Given the description of an element on the screen output the (x, y) to click on. 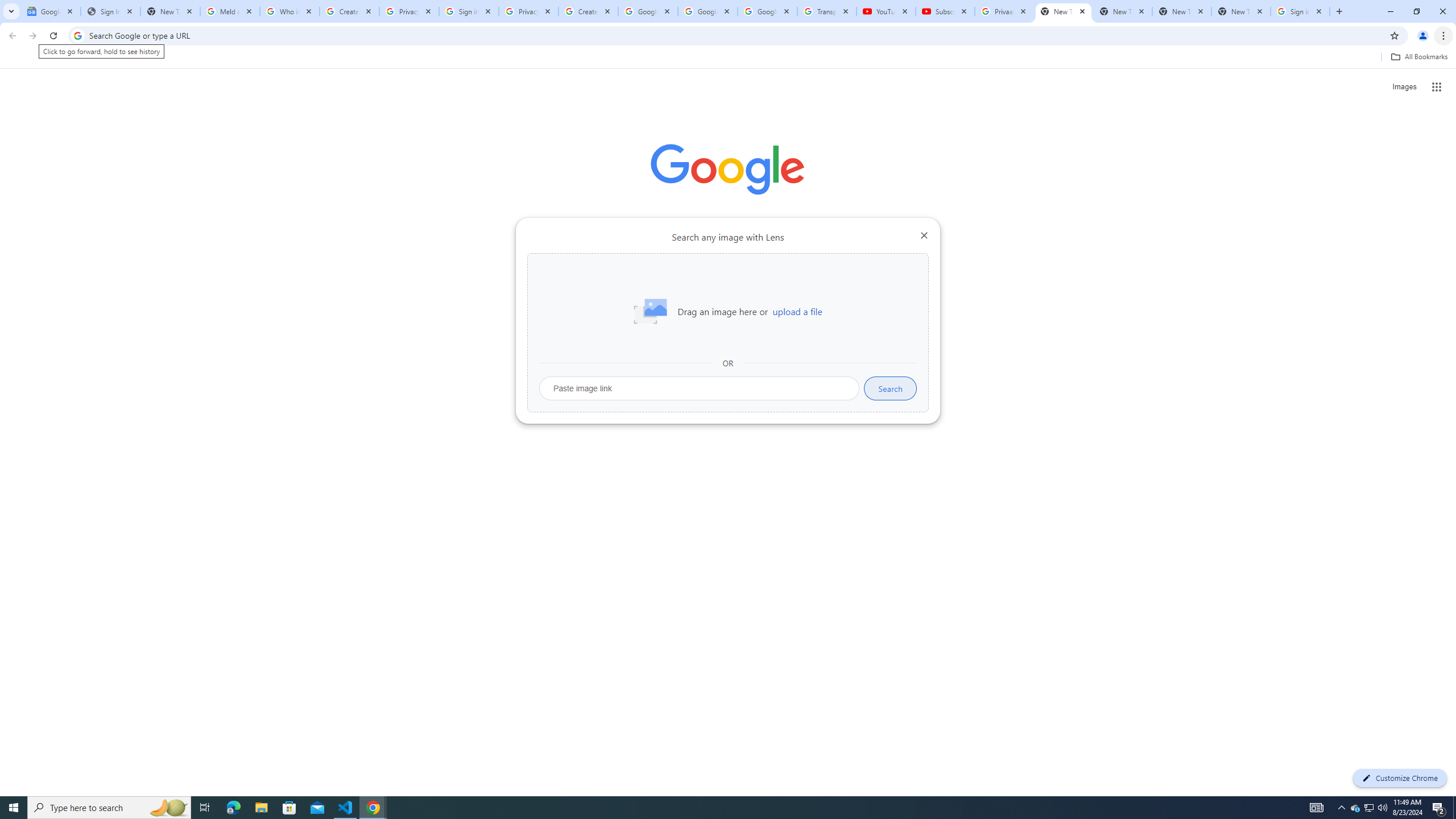
Sign in - Google Accounts (1300, 11)
Chrome Web Store (663, 287)
Sign in - Google Accounts (468, 11)
New Tab (1241, 11)
